Given the description of an element on the screen output the (x, y) to click on. 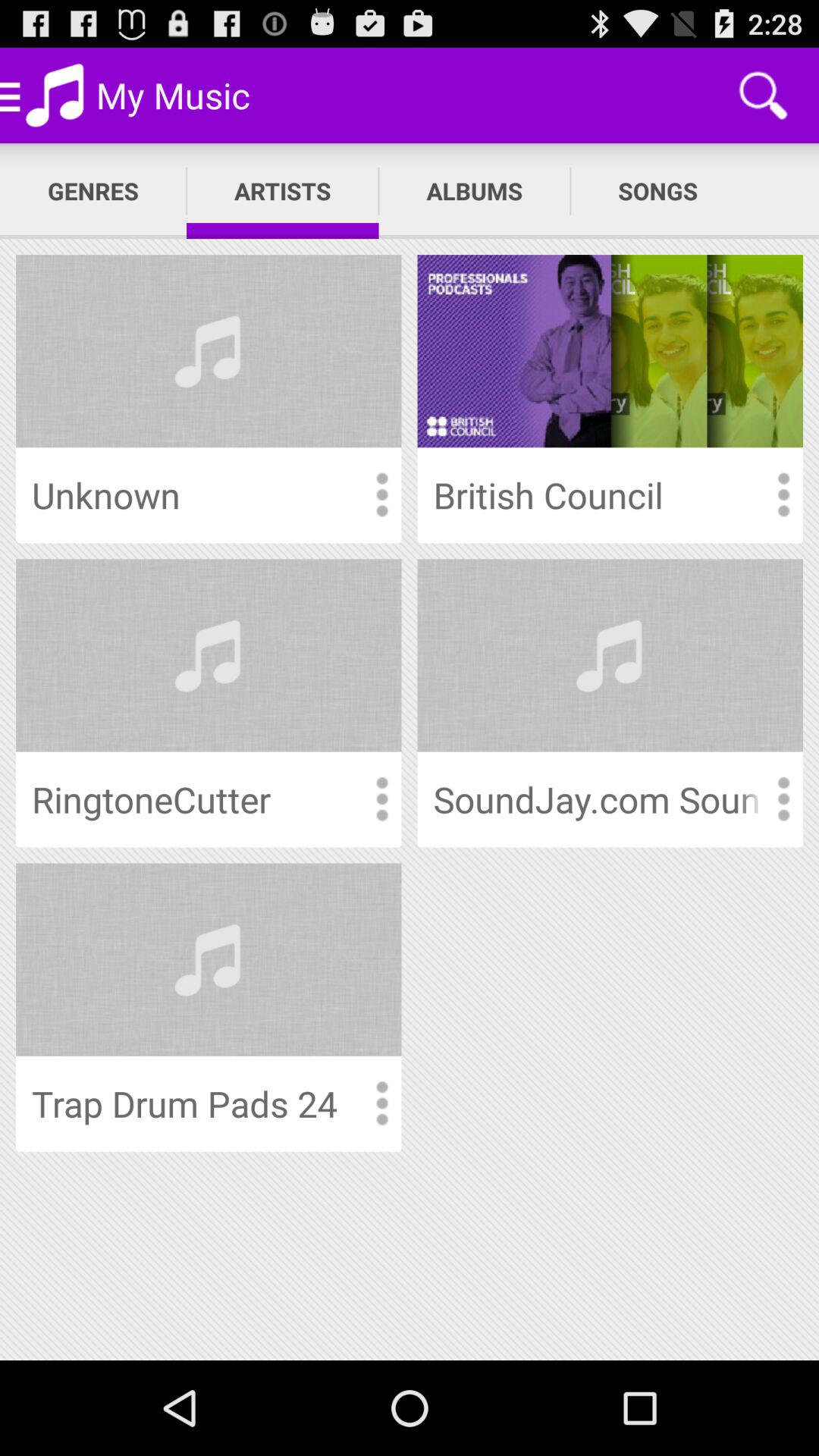
open setting (381, 495)
